Given the description of an element on the screen output the (x, y) to click on. 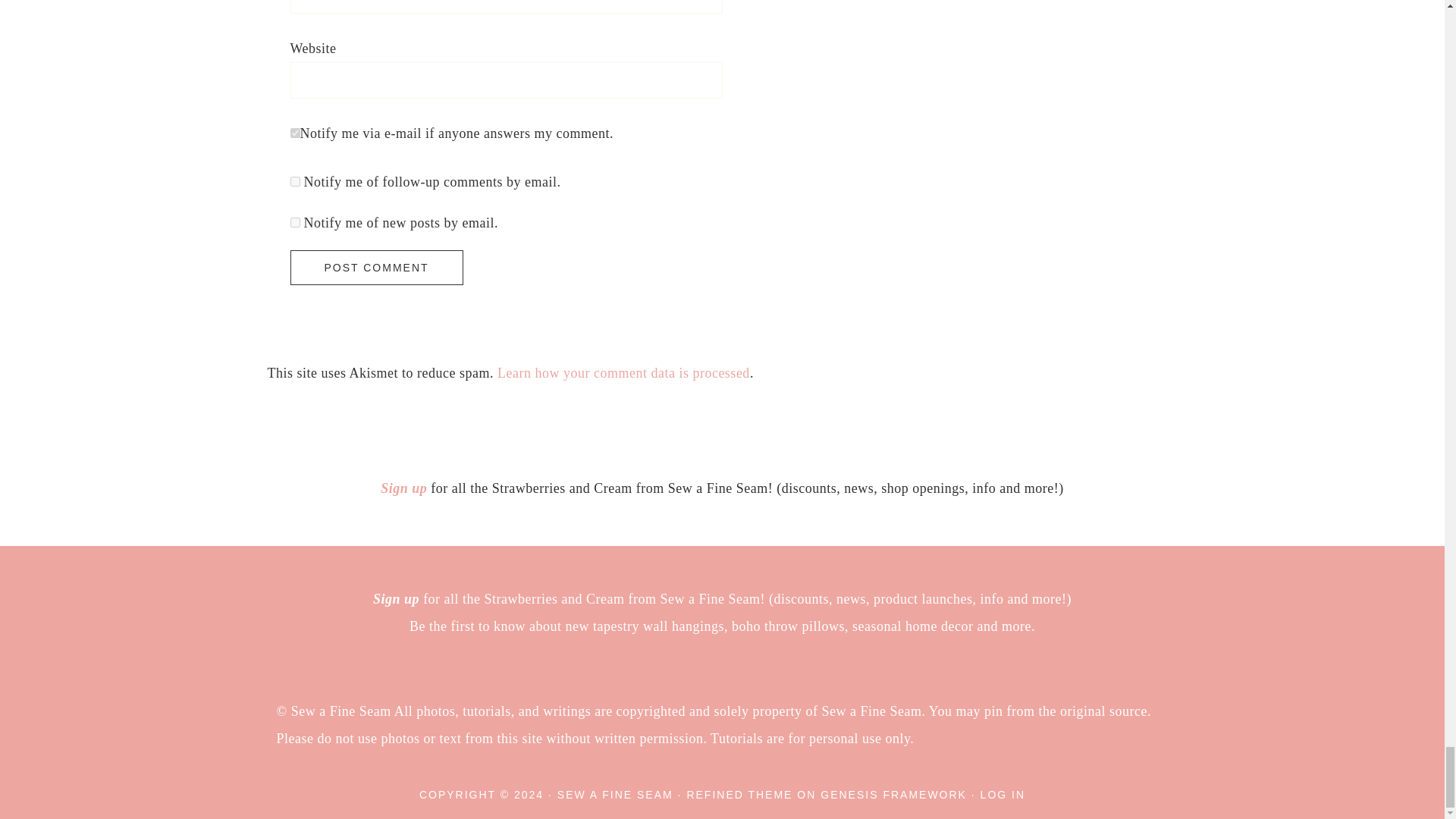
on (294, 132)
subscribe (294, 222)
subscribe (294, 181)
Post Comment (376, 267)
